Given the description of an element on the screen output the (x, y) to click on. 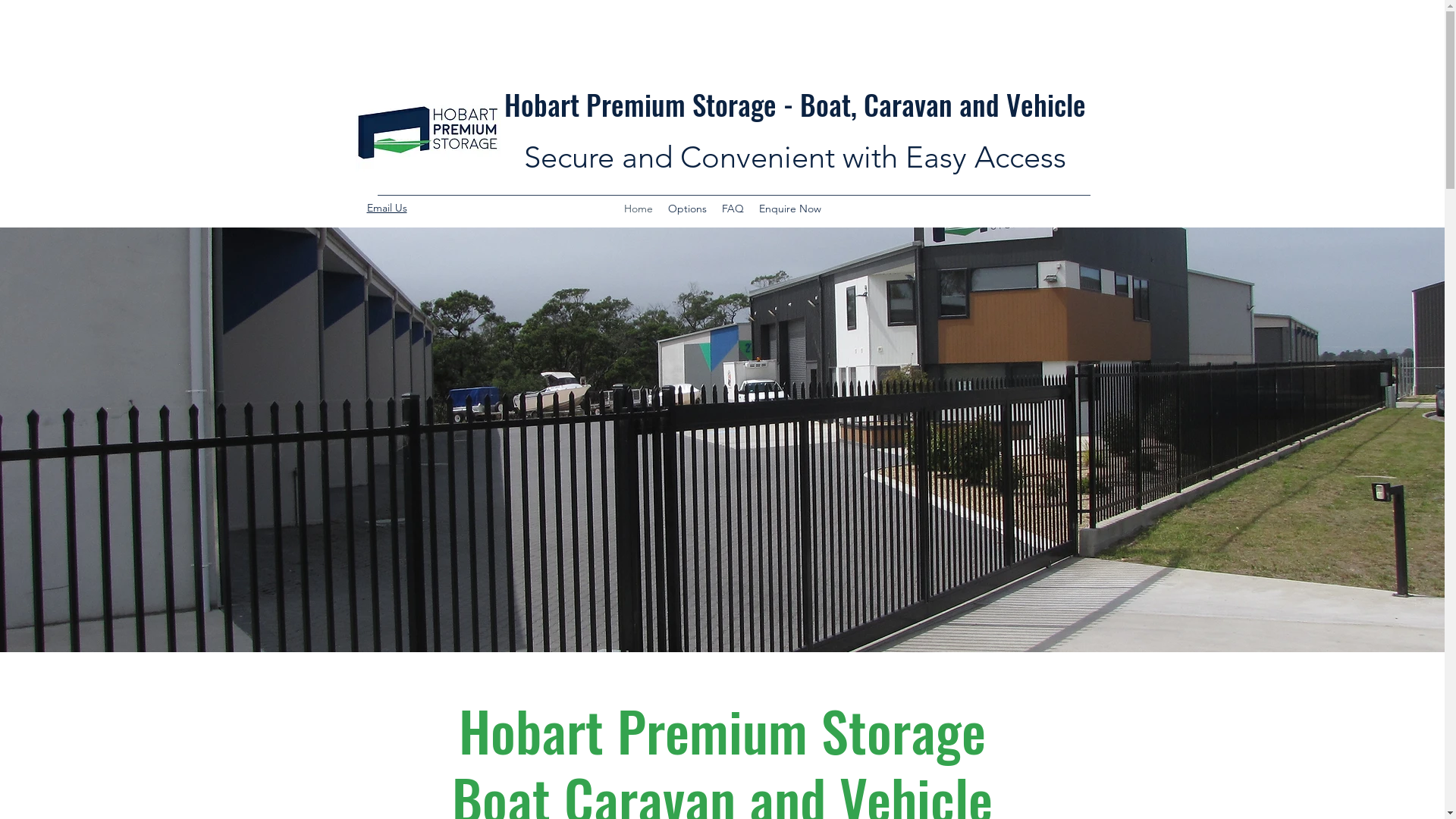
FAQ Element type: text (732, 208)
Hobart Premium Storage - Boat, Caravan and Vehicle Element type: text (794, 104)
Options Element type: text (686, 208)
Home Element type: text (637, 208)
Email Us Element type: text (387, 207)
Enquire Now Element type: text (789, 208)
